Given the description of an element on the screen output the (x, y) to click on. 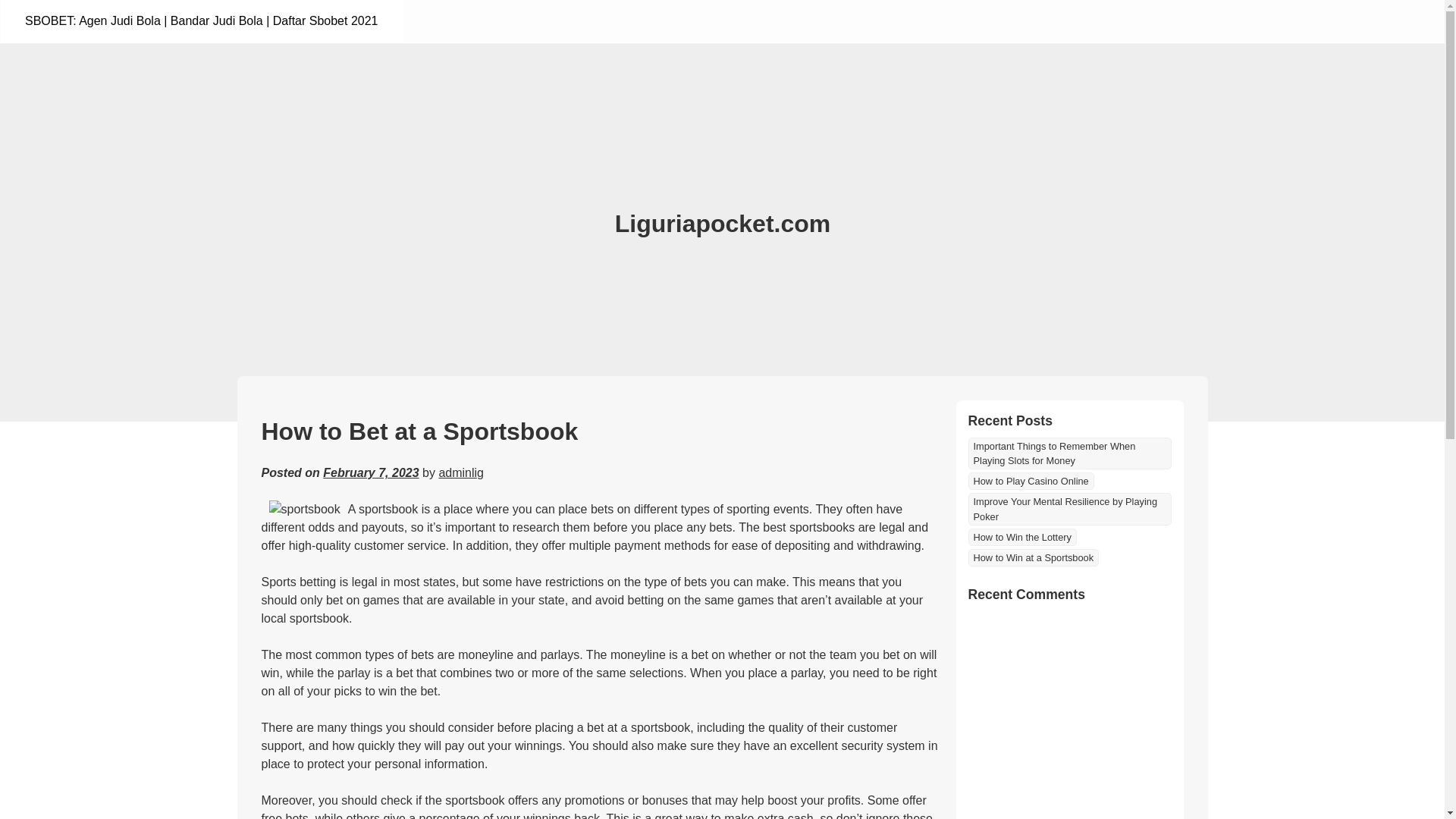
How to Win at a Sportsbook (1033, 557)
Important Things to Remember When Playing Slots for Money (1069, 453)
How to Play Casino Online (1030, 480)
adminlig (460, 472)
Improve Your Mental Resilience by Playing Poker (1069, 508)
How to Win the Lottery (1021, 537)
February 7, 2023 (371, 472)
